Given the description of an element on the screen output the (x, y) to click on. 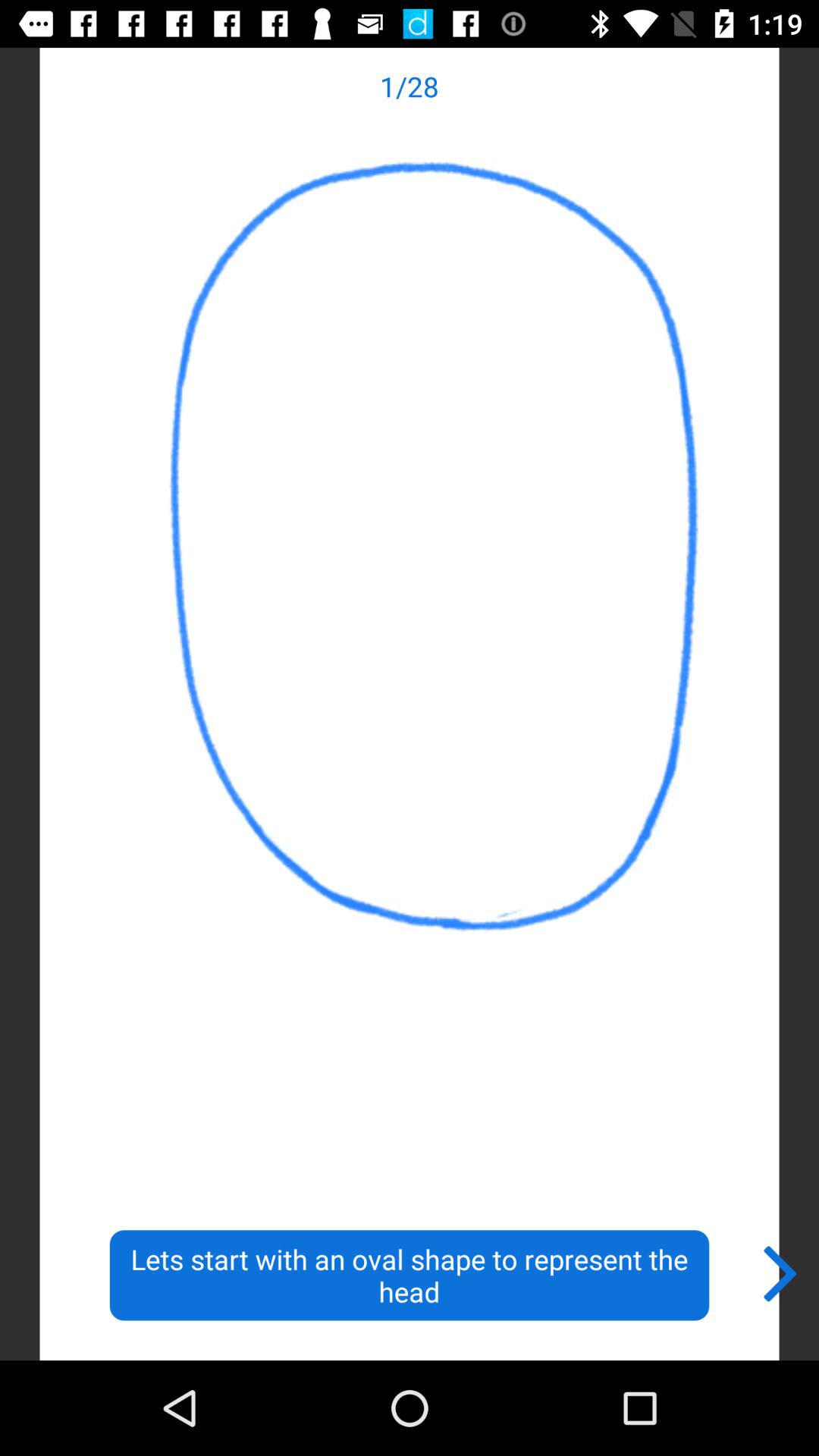
open the item at the bottom right corner (781, 1270)
